Given the description of an element on the screen output the (x, y) to click on. 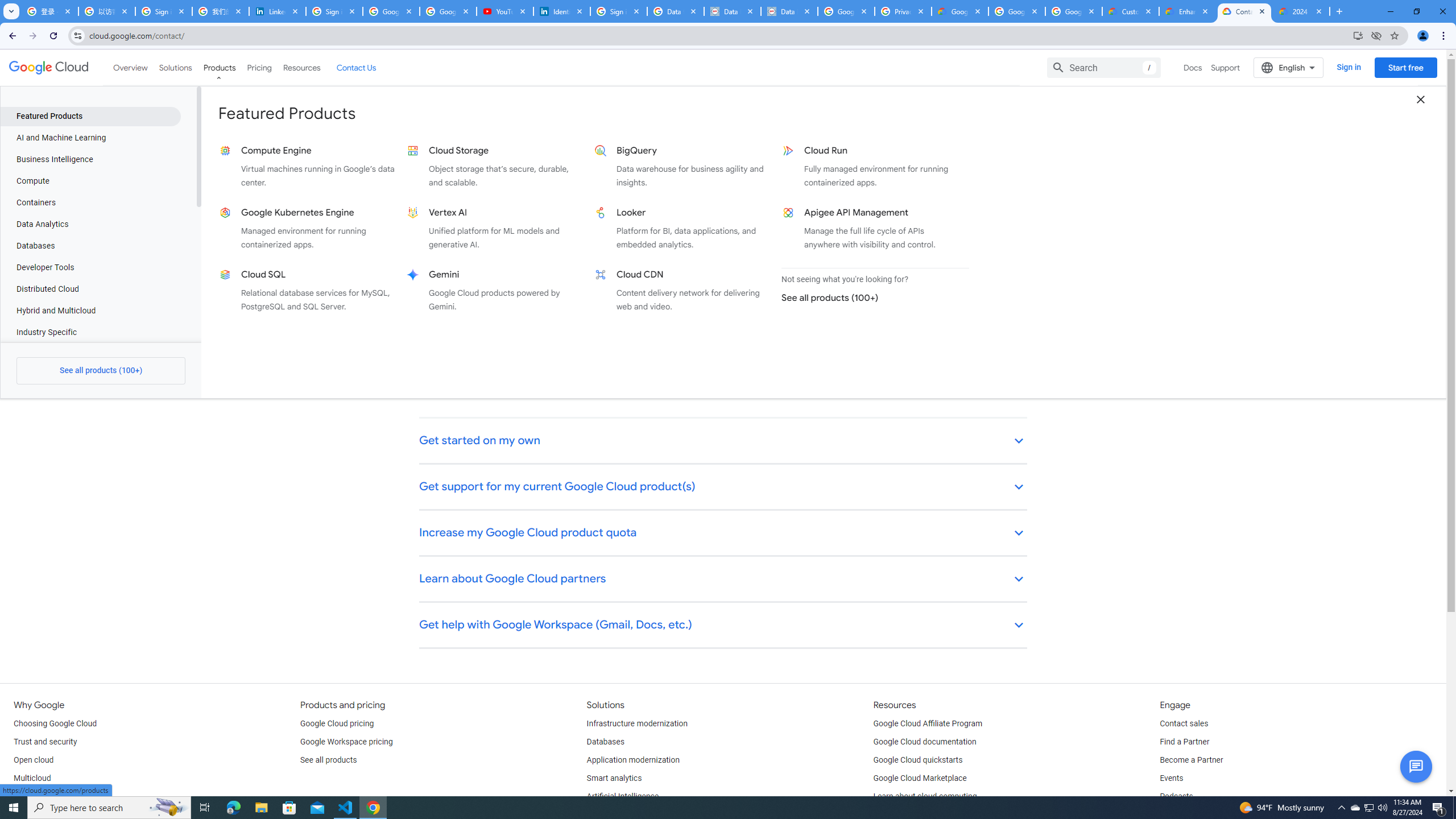
Podcasts (1175, 796)
Learn about cloud computing (924, 796)
Application modernization (632, 760)
Contact Us (355, 67)
Featured Products (90, 116)
